Given the description of an element on the screen output the (x, y) to click on. 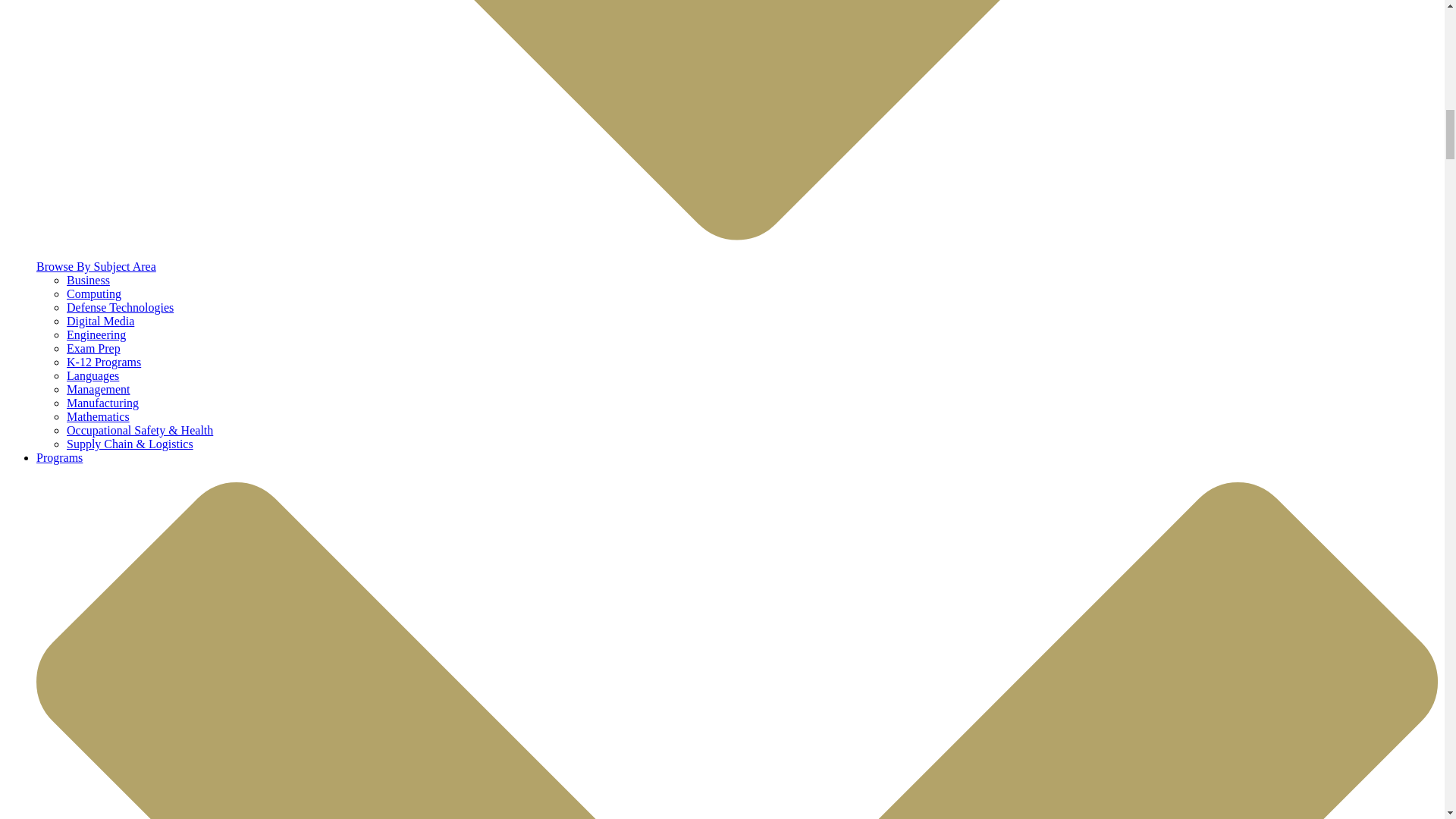
K-12 Programs (103, 361)
Computing (93, 293)
Management (98, 389)
Manufacturing (102, 402)
Exam Prep (93, 348)
Defense Technologies (119, 307)
Languages (92, 375)
Digital Media (99, 320)
Engineering (95, 334)
Browse By Subject Area (95, 266)
